Given the description of an element on the screen output the (x, y) to click on. 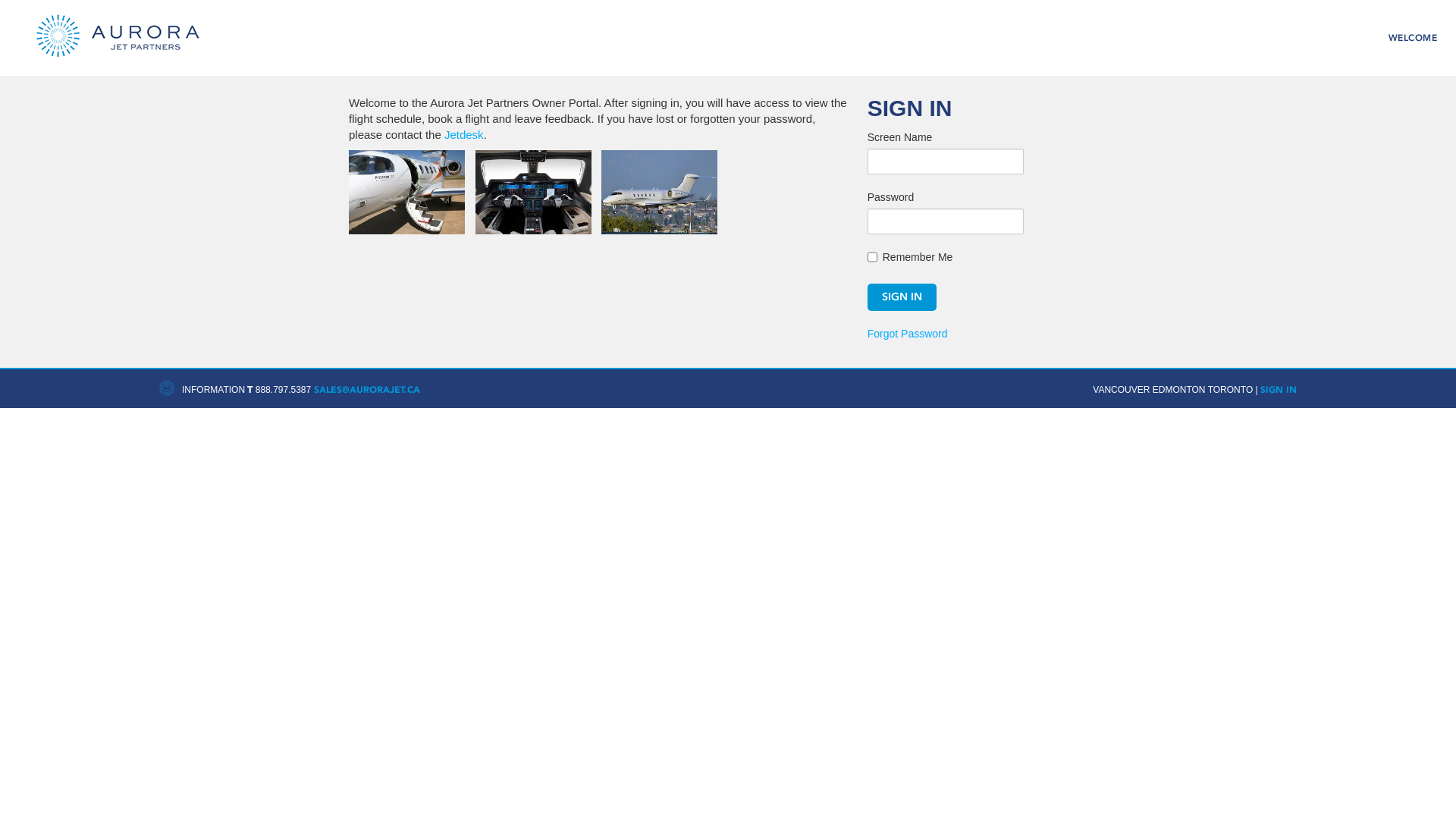
Jetdesk Element type: text (463, 134)
Jetdesk Element type: hover (122, 35)
Forgot Password Element type: text (907, 333)
WELCOME Element type: text (1412, 37)
SALES@AURORAJET.CA Element type: text (366, 389)
false Element type: text (872, 256)
SIGN IN Element type: text (1278, 389)
SIGN IN Element type: text (901, 296)
